Given the description of an element on the screen output the (x, y) to click on. 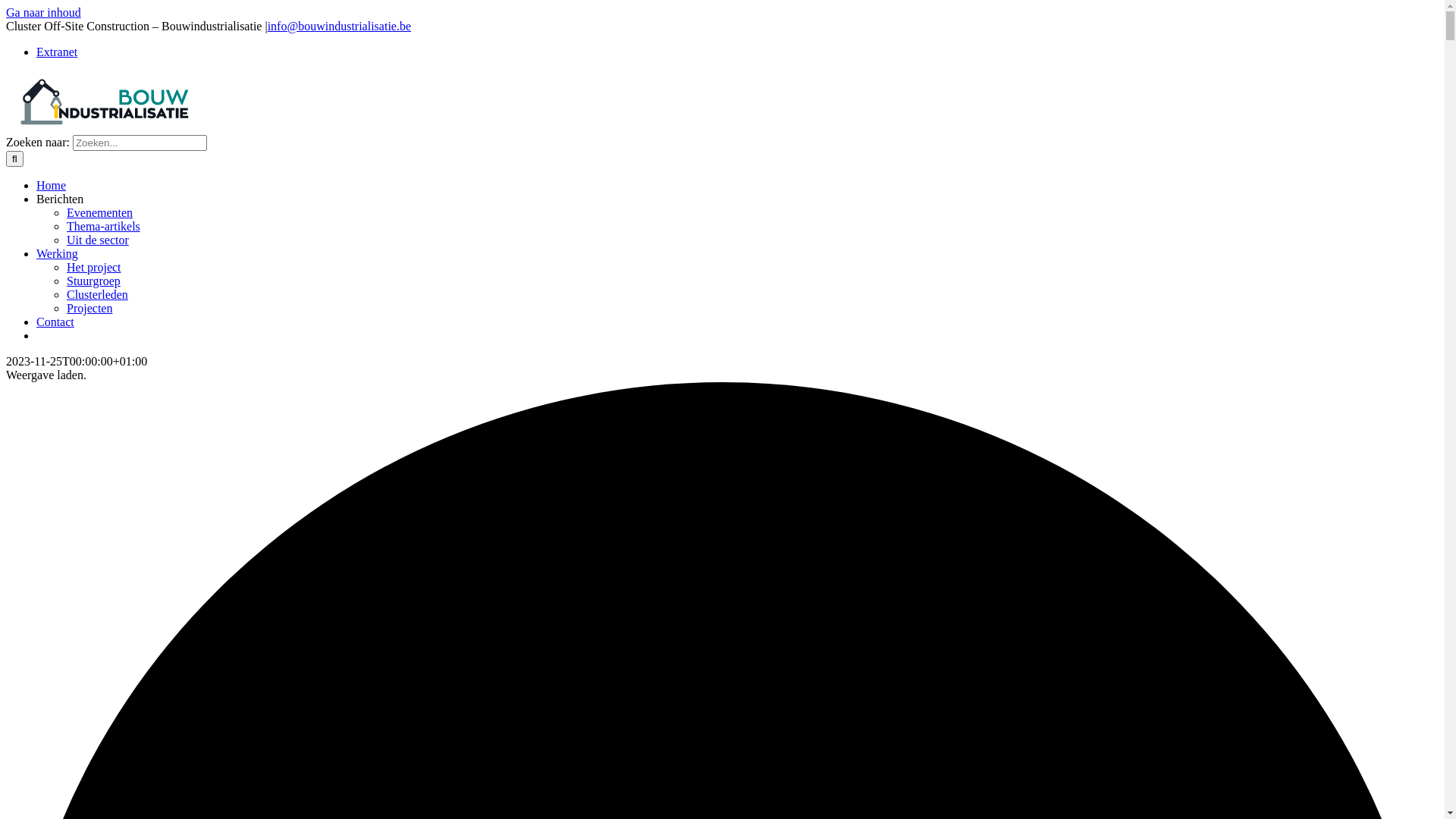
Het project Element type: text (93, 266)
Evenementen Element type: text (99, 212)
Thema-artikels Element type: text (103, 225)
Werking Element type: text (57, 253)
Extranet Element type: text (56, 51)
Stuurgroep Element type: text (93, 280)
Home Element type: text (50, 184)
Uit de sector Element type: text (97, 239)
info@bouwindustrialisatie.be Element type: text (339, 25)
Clusterleden Element type: text (97, 294)
Ga naar inhoud Element type: text (43, 12)
Contact Element type: text (55, 321)
Projecten Element type: text (89, 307)
Berichten Element type: text (59, 198)
